Given the description of an element on the screen output the (x, y) to click on. 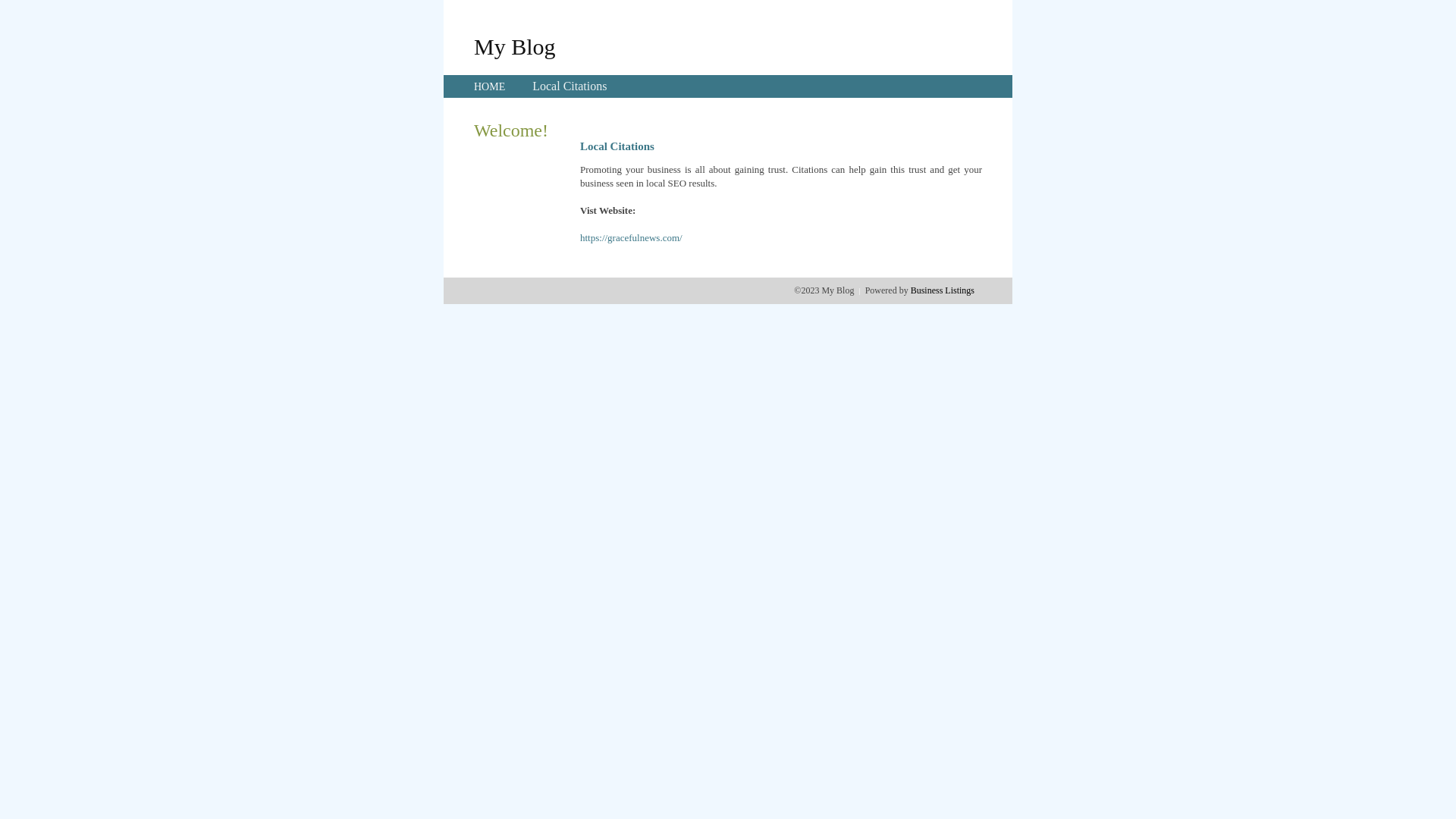
HOME Element type: text (489, 86)
Local Citations Element type: text (569, 85)
Business Listings Element type: text (942, 290)
My Blog Element type: text (514, 46)
https://gracefulnews.com/ Element type: text (631, 237)
